Given the description of an element on the screen output the (x, y) to click on. 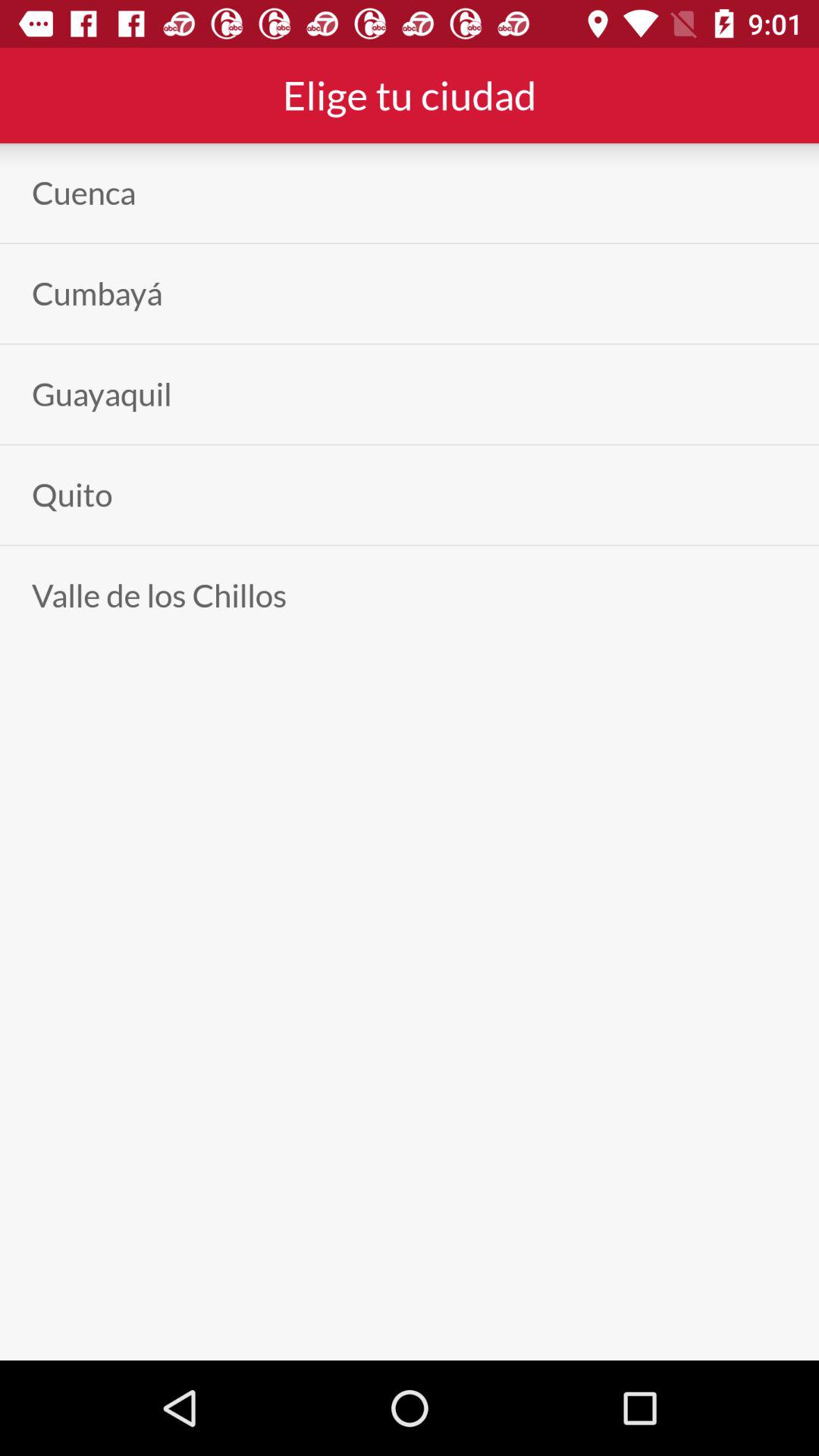
open the app below cuenca icon (96, 293)
